Given the description of an element on the screen output the (x, y) to click on. 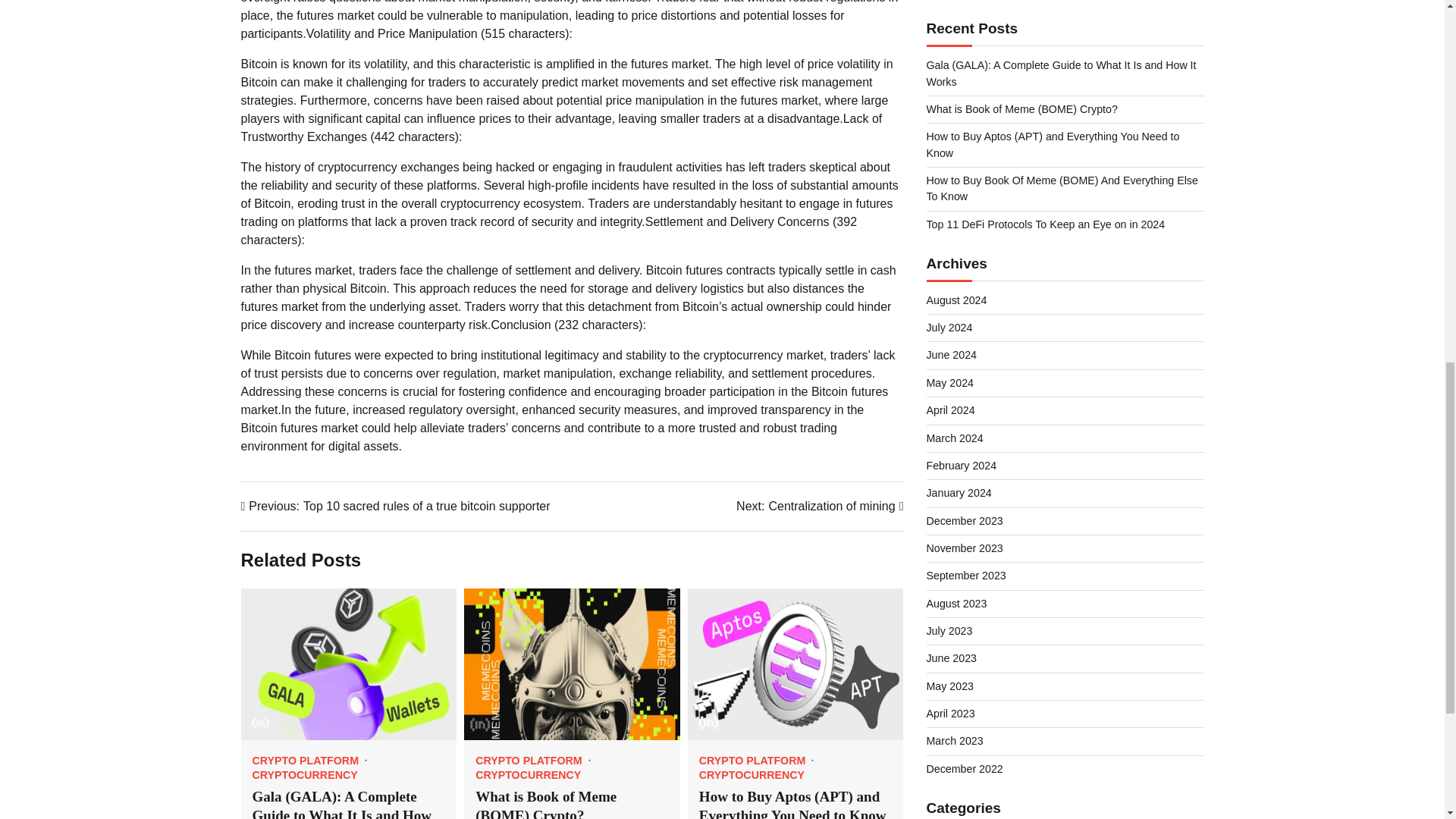
CRYPTO PLATFORM (534, 760)
CRYPTOCURRENCY (303, 774)
CRYPTO PLATFORM (756, 760)
CRYPTOCURRENCY (528, 774)
CRYPTO PLATFORM (819, 506)
CRYPTOCURRENCY (309, 760)
